Given the description of an element on the screen output the (x, y) to click on. 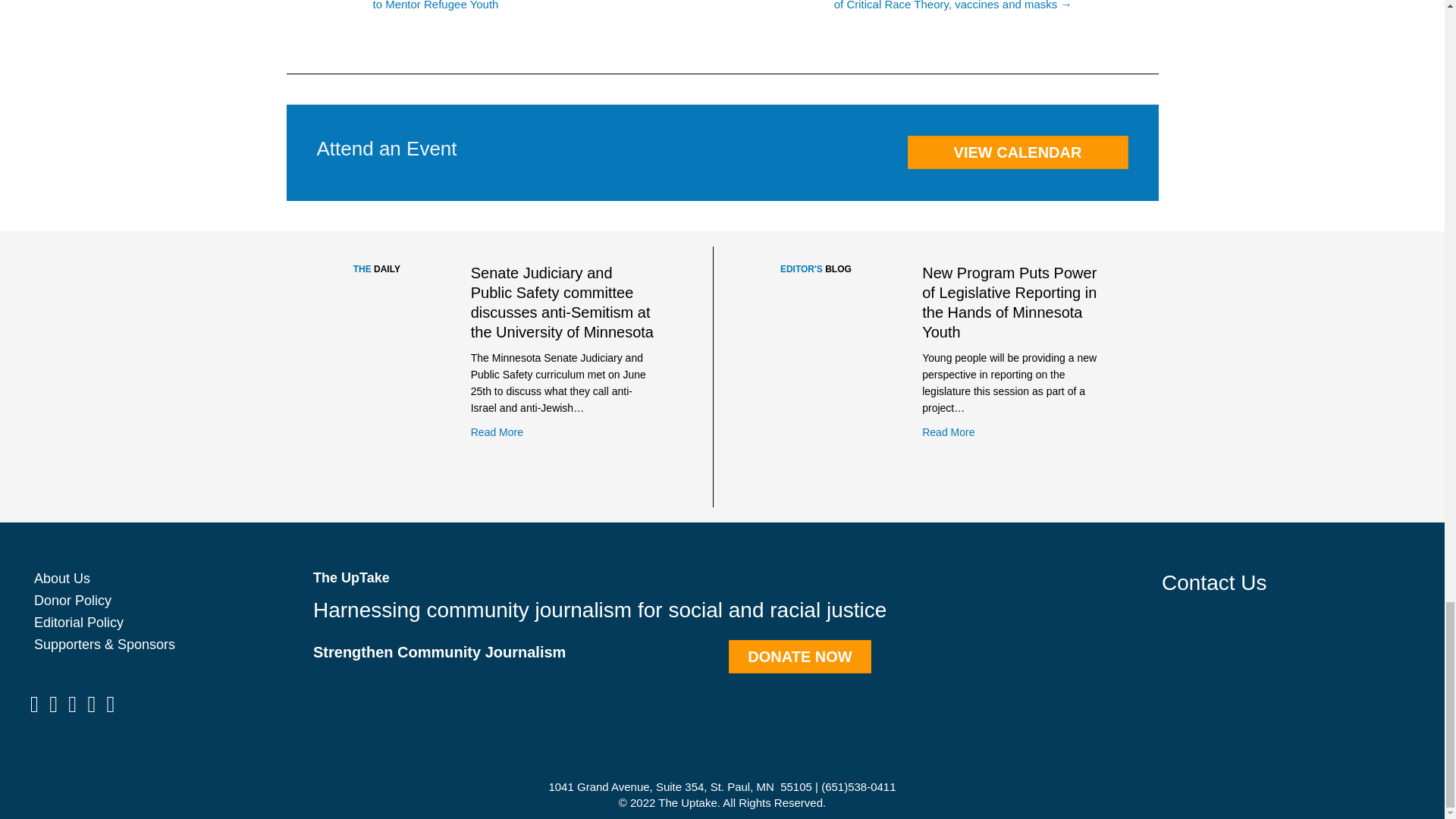
VIEW CALENDAR (1016, 151)
Read More (496, 432)
